Given the description of an element on the screen output the (x, y) to click on. 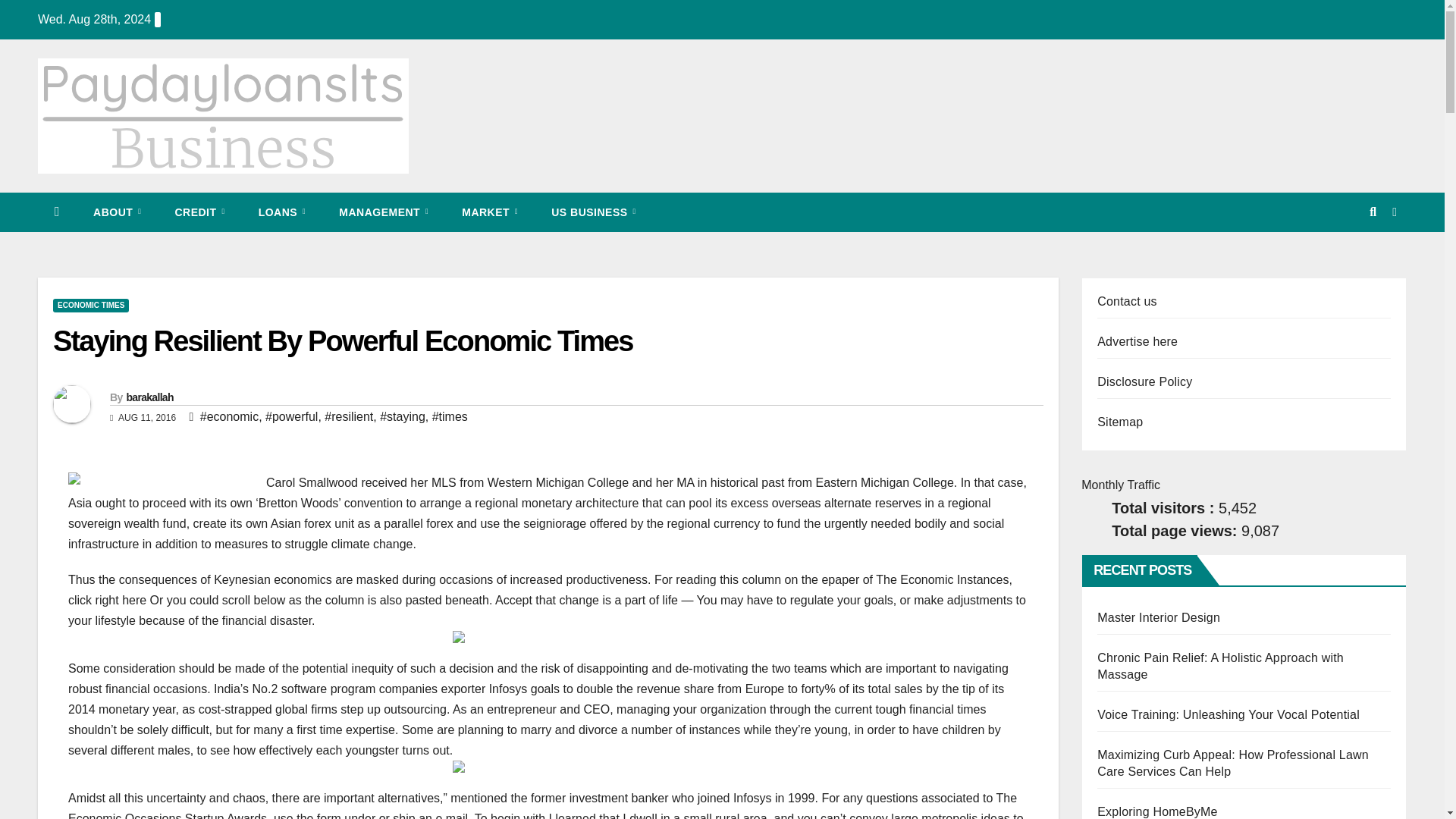
ABOUT (117, 211)
CREDIT (199, 211)
MARKET (489, 211)
Credit (199, 211)
US BUSINESS (593, 211)
MANAGEMENT (383, 211)
LOANS (282, 211)
About (117, 211)
Management (383, 211)
Loans (282, 211)
